Given the description of an element on the screen output the (x, y) to click on. 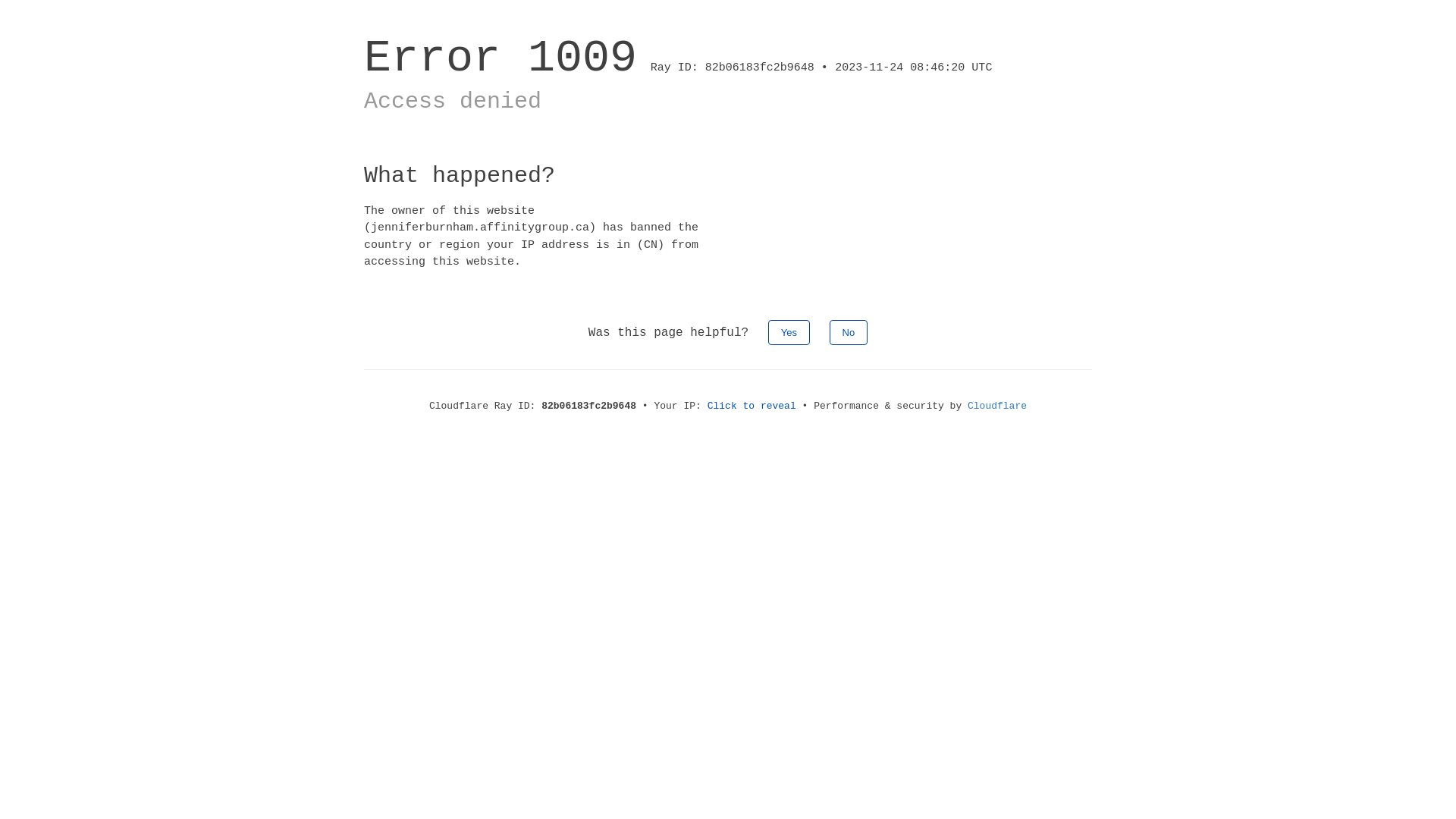
Yes Element type: text (788, 332)
Cloudflare Element type: text (996, 405)
Click to reveal Element type: text (751, 405)
No Element type: text (848, 332)
